Given the description of an element on the screen output the (x, y) to click on. 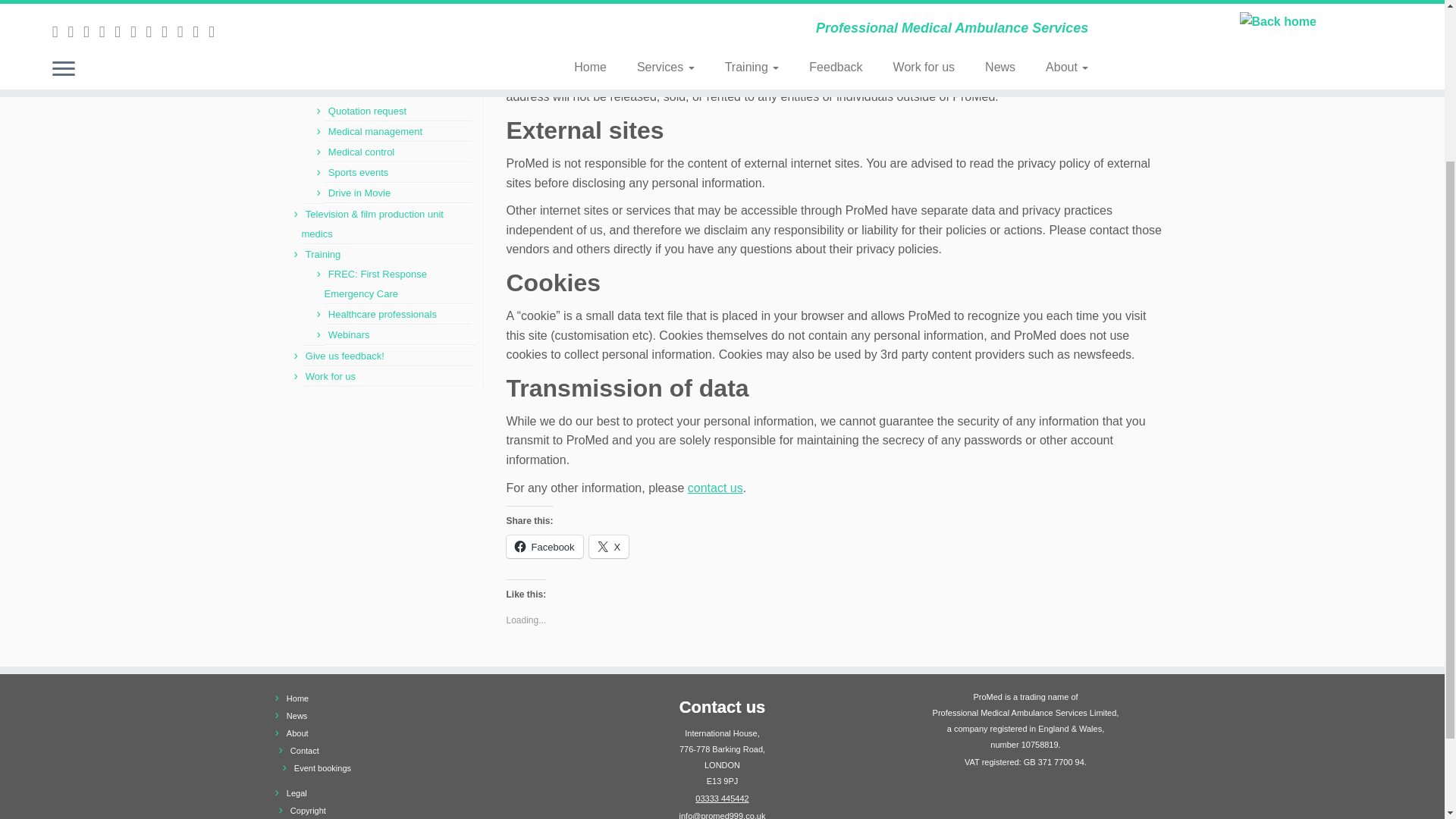
Search (305, 16)
